Given the description of an element on the screen output the (x, y) to click on. 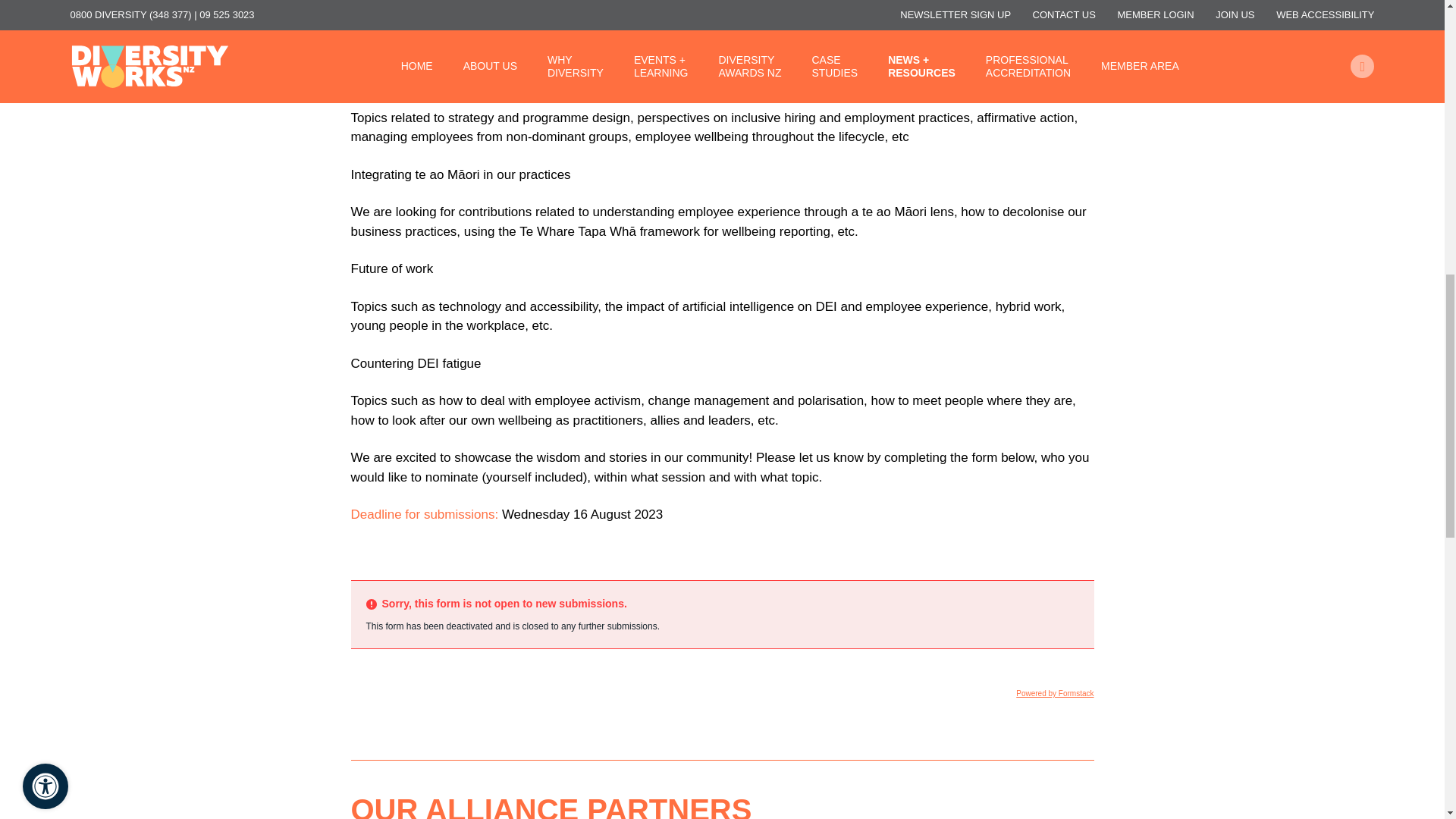
Powered by Formstack (1054, 693)
